Given the description of an element on the screen output the (x, y) to click on. 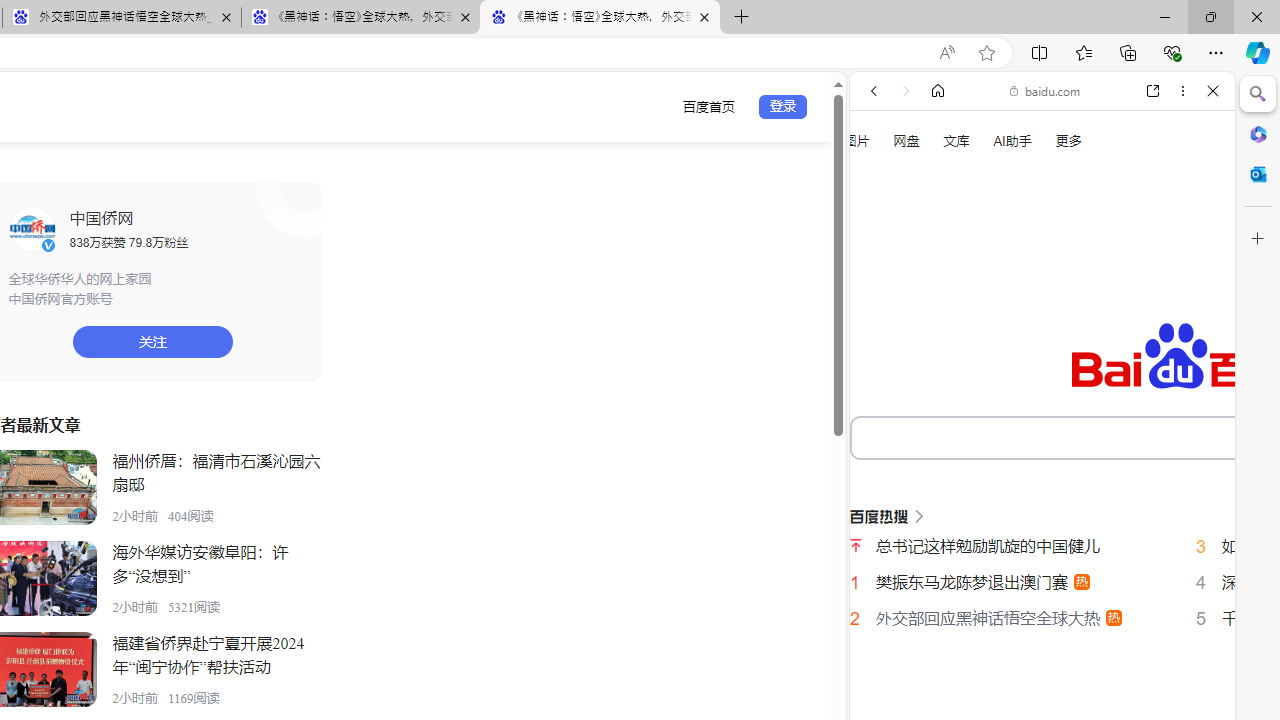
This site scope (936, 180)
SEARCH TOOLS (1093, 339)
Search Filter, IMAGES (939, 339)
